Given the description of an element on the screen output the (x, y) to click on. 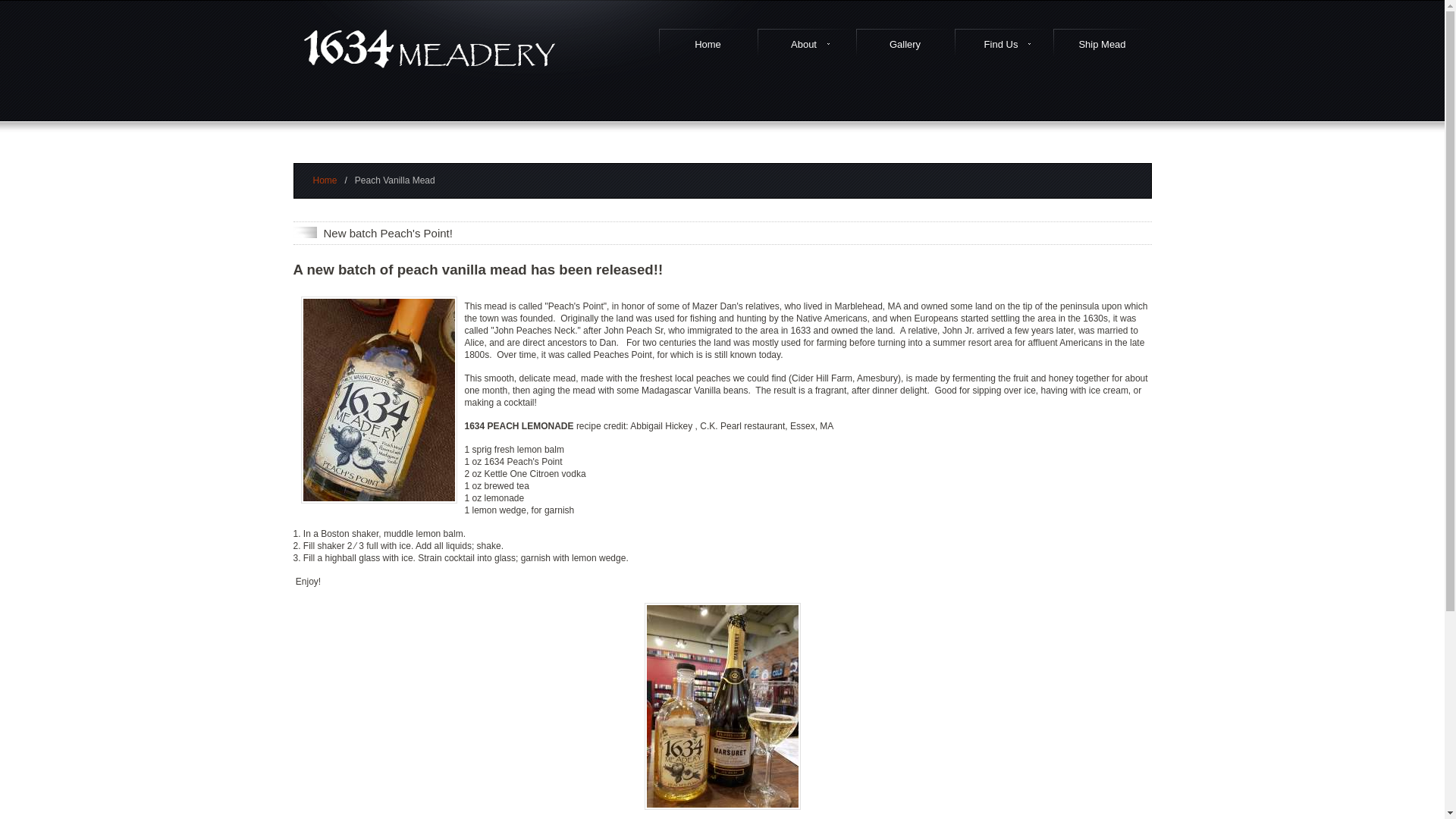
peach Element type: hover (378, 399)
Ship Mead Element type: text (1101, 43)
Find Us Element type: text (1002, 43)
Gallery Element type: text (904, 43)
About Element type: text (805, 43)
Home Element type: text (324, 180)
Home Element type: text (707, 43)
